Given the description of an element on the screen output the (x, y) to click on. 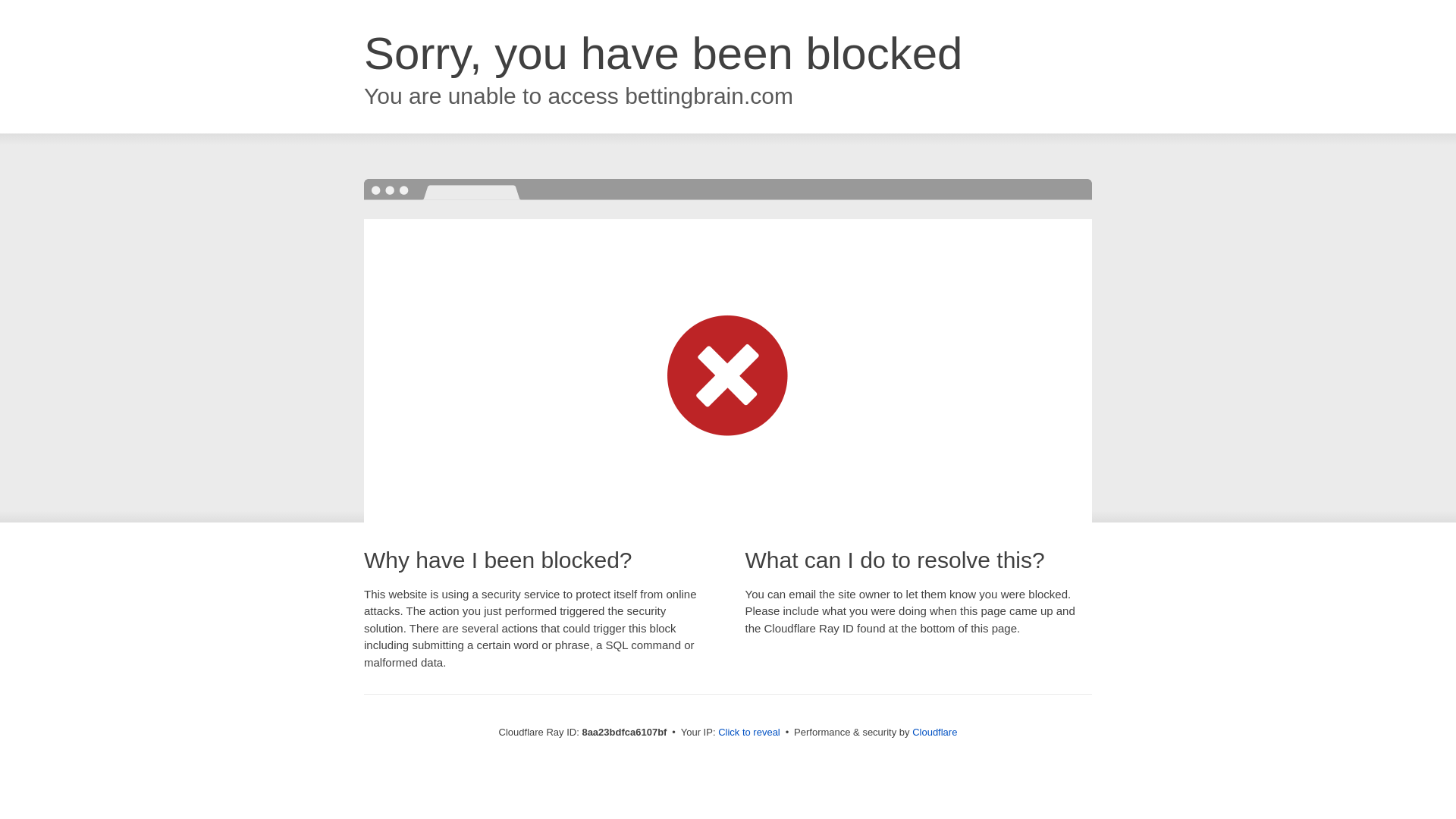
Click to reveal (748, 732)
Cloudflare (934, 731)
